Given the description of an element on the screen output the (x, y) to click on. 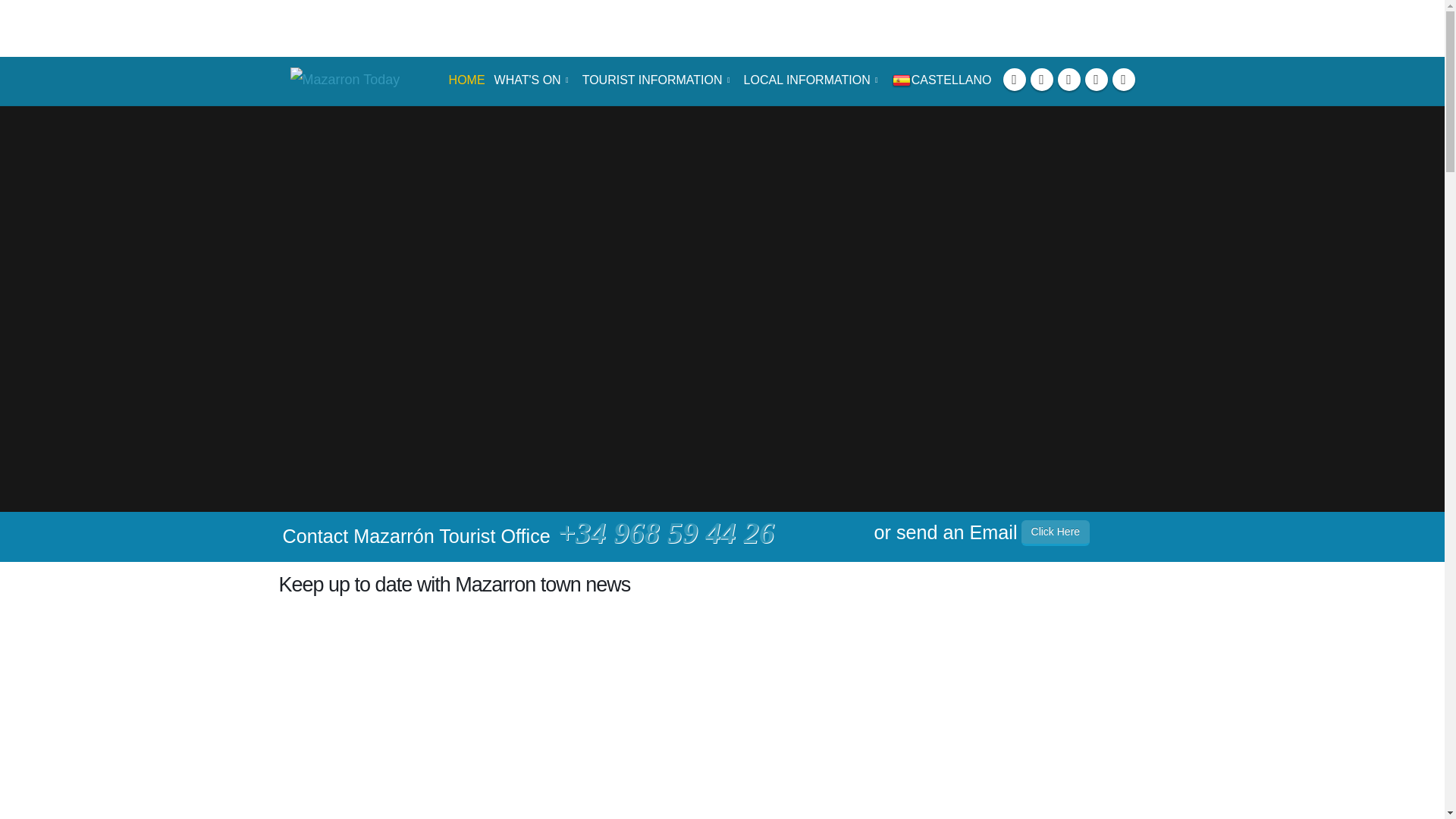
CASTELLANO (941, 80)
HOME (467, 80)
TOURIST INFORMATION (658, 80)
Click Here (1056, 533)
LOCAL INFORMATION (812, 80)
WHAT'S ON (533, 80)
